Given the description of an element on the screen output the (x, y) to click on. 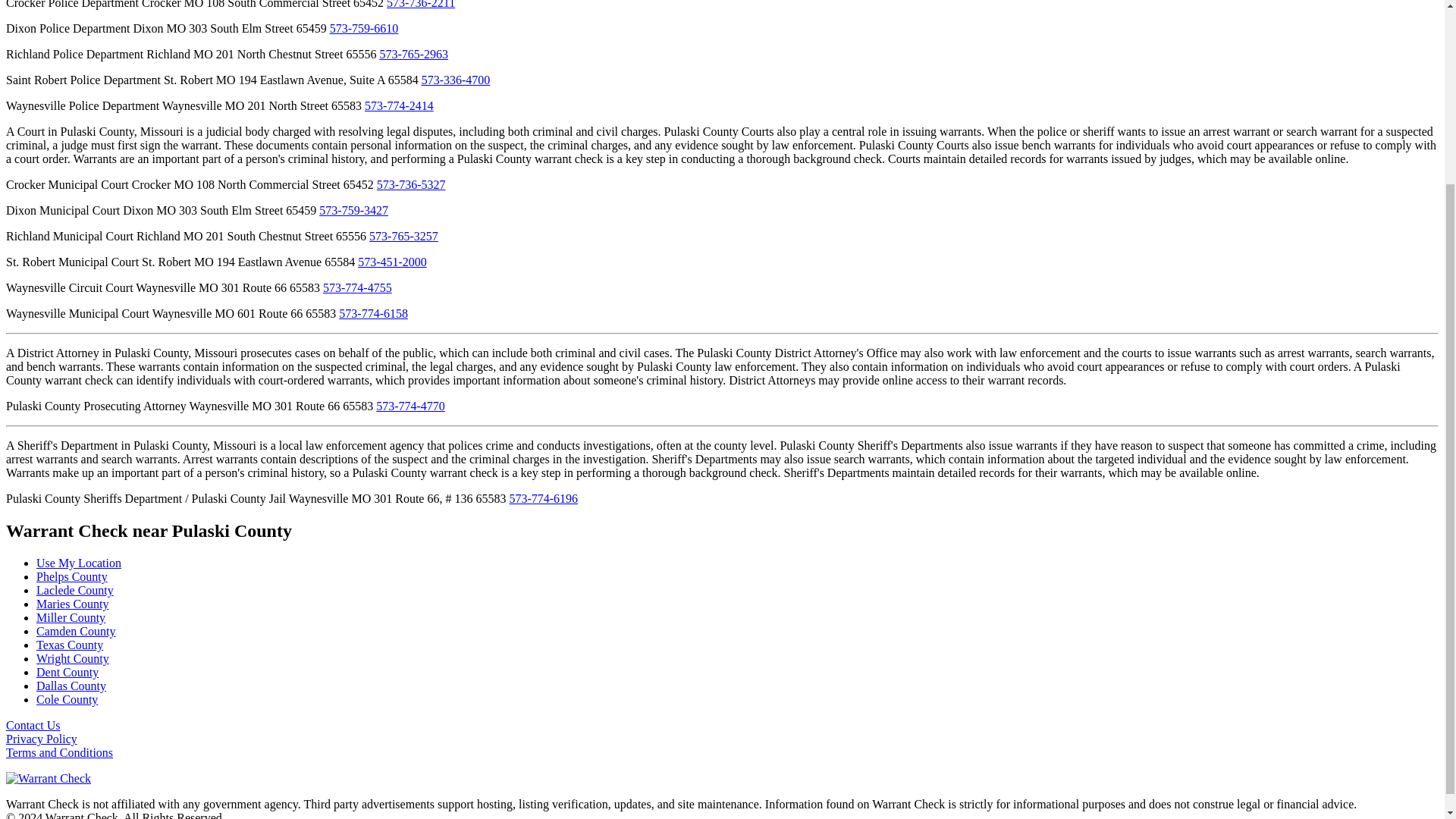
573-774-6196 (543, 498)
Dallas County (71, 685)
Contact Us (33, 725)
573-736-2211 (420, 4)
Wright County (72, 658)
573-774-6158 (373, 313)
573-765-2963 (413, 53)
Use My Location (78, 562)
Camden County (75, 631)
Privacy Policy (41, 738)
Phelps County (71, 576)
Warrant Check Near Me (78, 562)
Laclede County (74, 590)
573-774-4770 (410, 405)
573-336-4700 (456, 79)
